Given the description of an element on the screen output the (x, y) to click on. 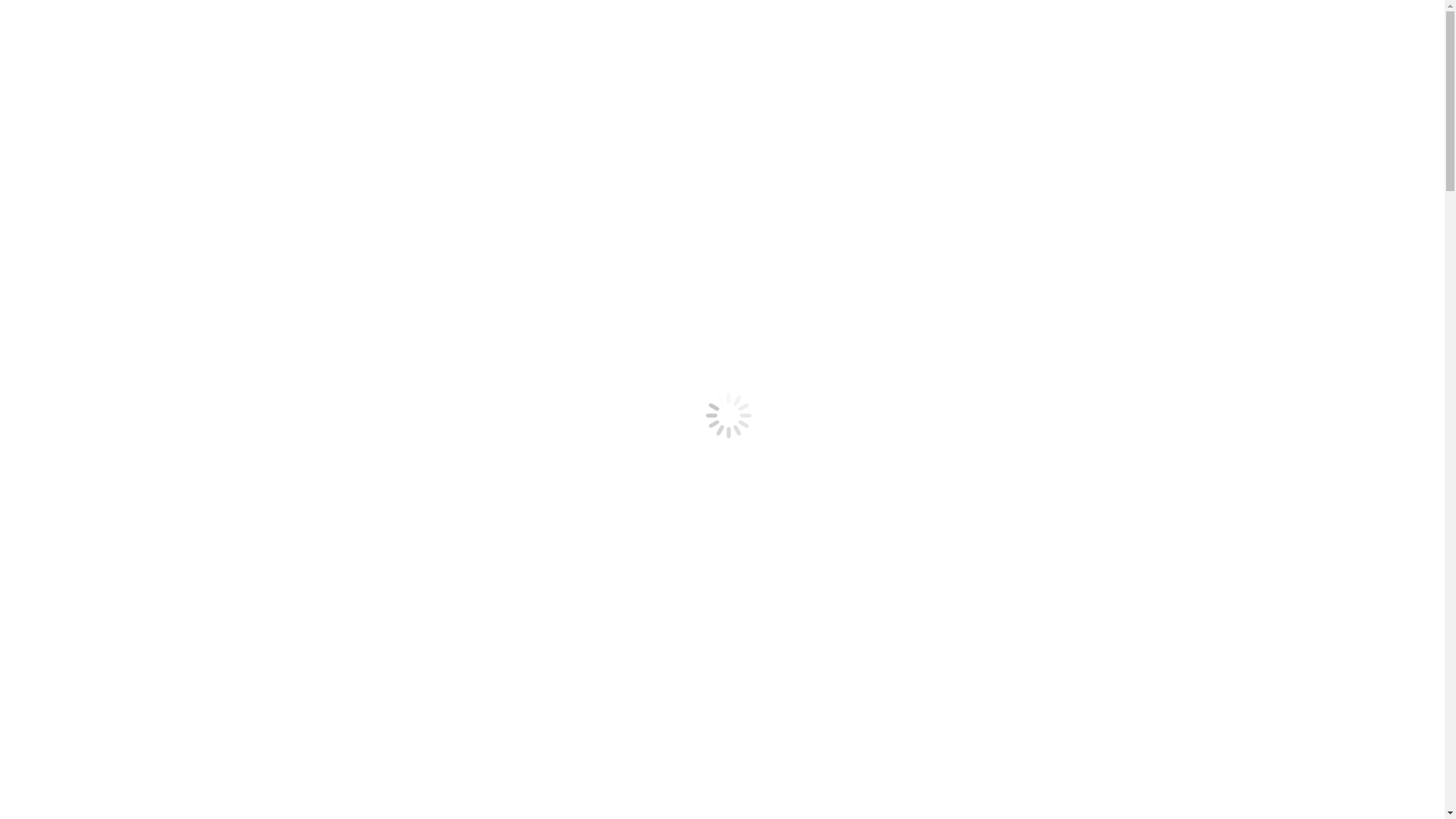
Contact Element type: text (55, 759)
LED DJ Booth Element type: text (102, 285)
Corporate Events Element type: text (108, 244)
About us Element type: text (88, 773)
Dhol Drummers Element type: text (105, 353)
LED Furniture Element type: text (102, 298)
Corporate Events Element type: text (108, 555)
Sound and Lightning Element type: text (117, 582)
Contact Element type: text (55, 448)
Live Drummers Element type: text (105, 677)
Cold Sparks Element type: text (96, 691)
Podcasts Element type: text (57, 787)
About us Element type: text (88, 462)
Photo Booth Element type: text (96, 623)
LED Floors Element type: text (95, 650)
Sound and Lightning Element type: text (117, 271)
Packages Element type: text (58, 746)
Private Parties Element type: text (101, 568)
LED Floors Element type: text (95, 339)
Skip to content Element type: text (5, 5)
Private Parties Element type: text (101, 257)
360 Photo Booth Element type: text (107, 394)
Our Team Element type: text (60, 421)
Live Drummers Element type: text (105, 366)
Podcasts Element type: text (57, 476)
Dhol Drummers Element type: text (105, 664)
LED Furniture Element type: text (102, 609)
Wedding Element type: text (87, 230)
Photobooth Element type: text (64, 718)
Services Element type: text (56, 216)
Photo Booth Element type: text (96, 312)
Services Element type: text (56, 527)
Wedding Element type: text (87, 541)
Our Team Element type: text (60, 732)
Cold Sparks Element type: text (96, 380)
Dry Ice Element type: text (84, 326)
360 Photo Booth Element type: text (107, 705)
Photobooth Element type: text (64, 407)
LED DJ Booth Element type: text (102, 595)
Book Now Element type: text (32, 501)
Packages Element type: text (58, 435)
Dry Ice Element type: text (84, 636)
